Given the description of an element on the screen output the (x, y) to click on. 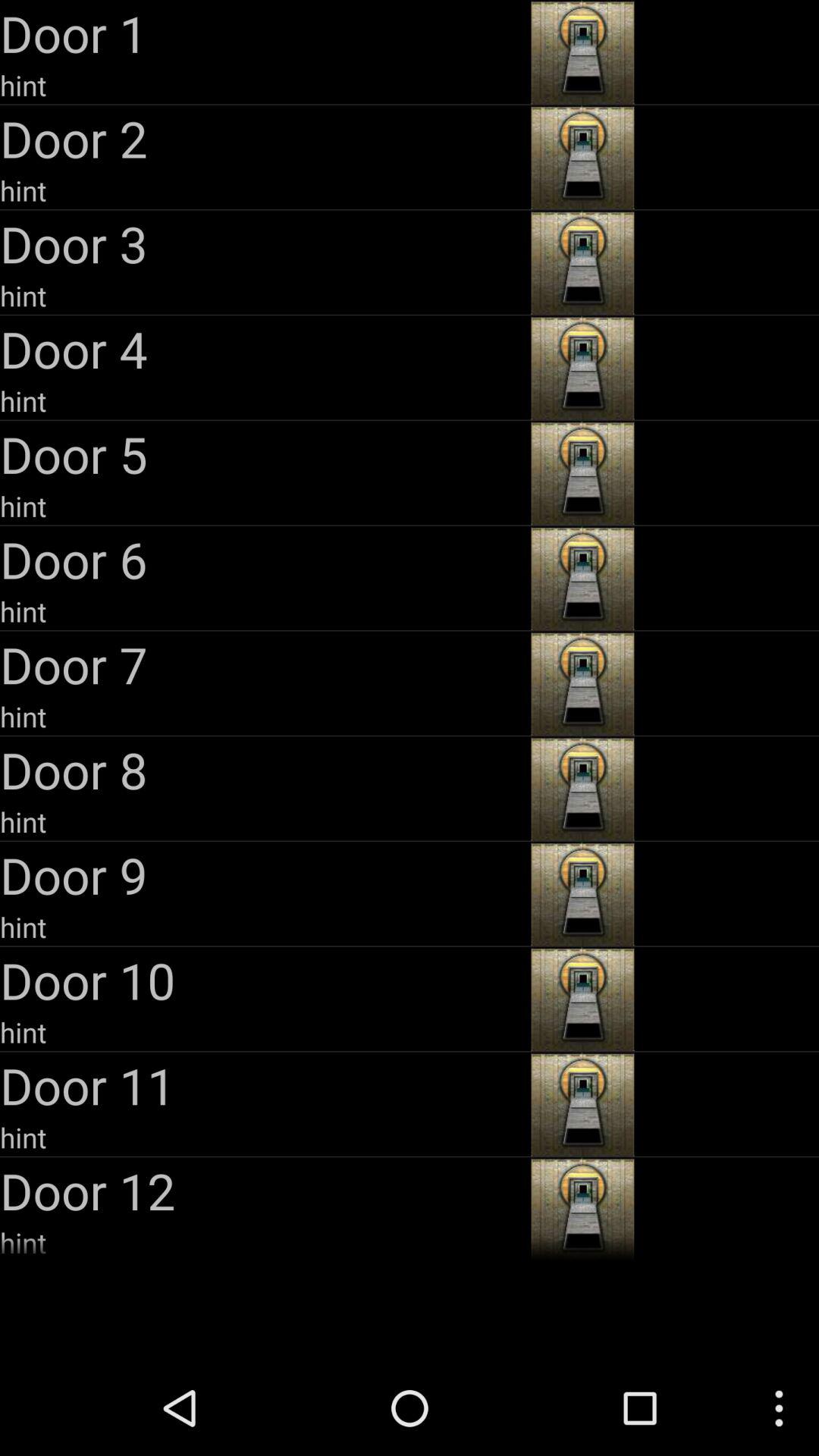
flip to the door 12 (263, 1190)
